Given the description of an element on the screen output the (x, y) to click on. 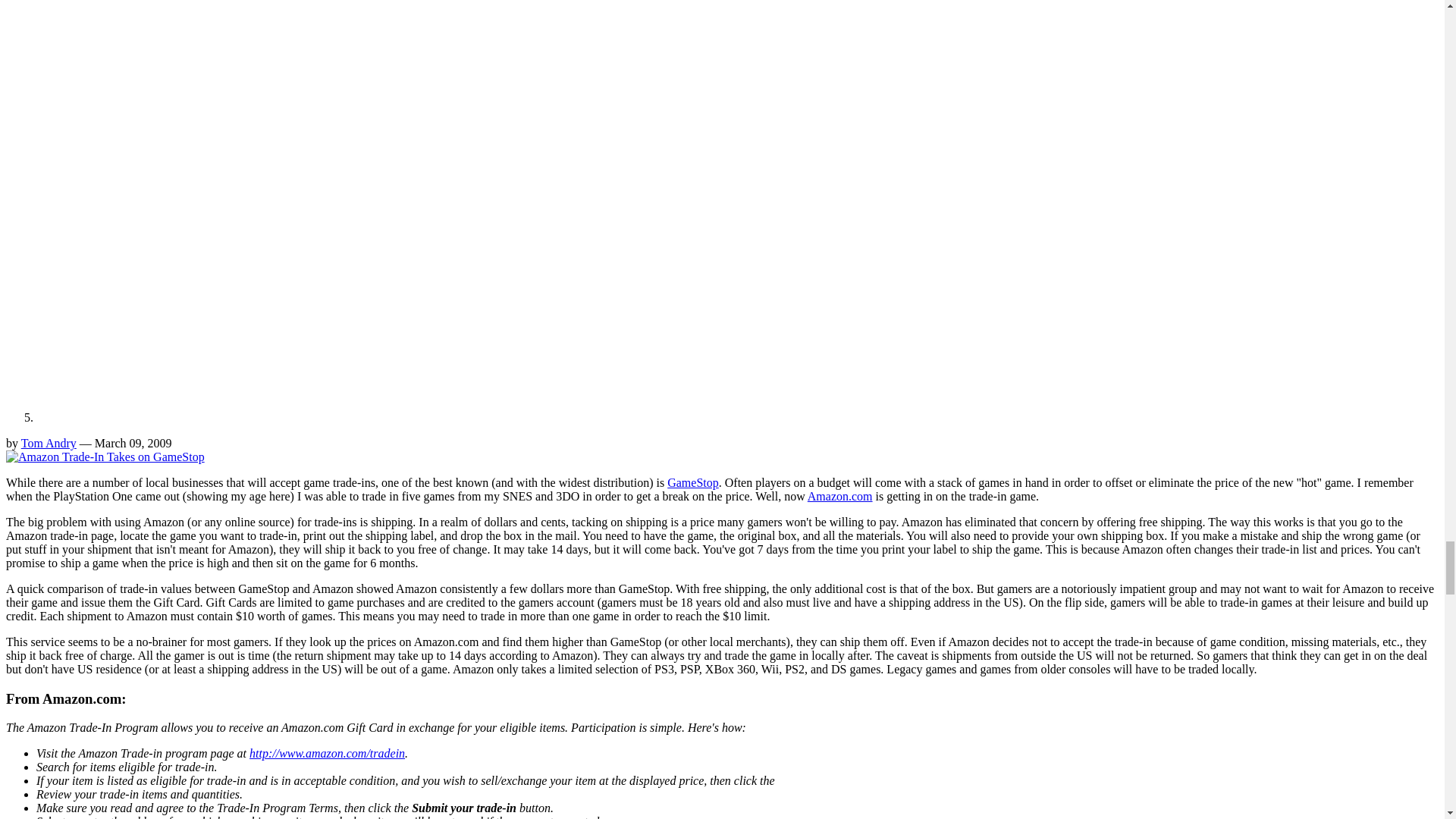
Amazon Trade-In Takes on GameStop (105, 457)
